Given the description of an element on the screen output the (x, y) to click on. 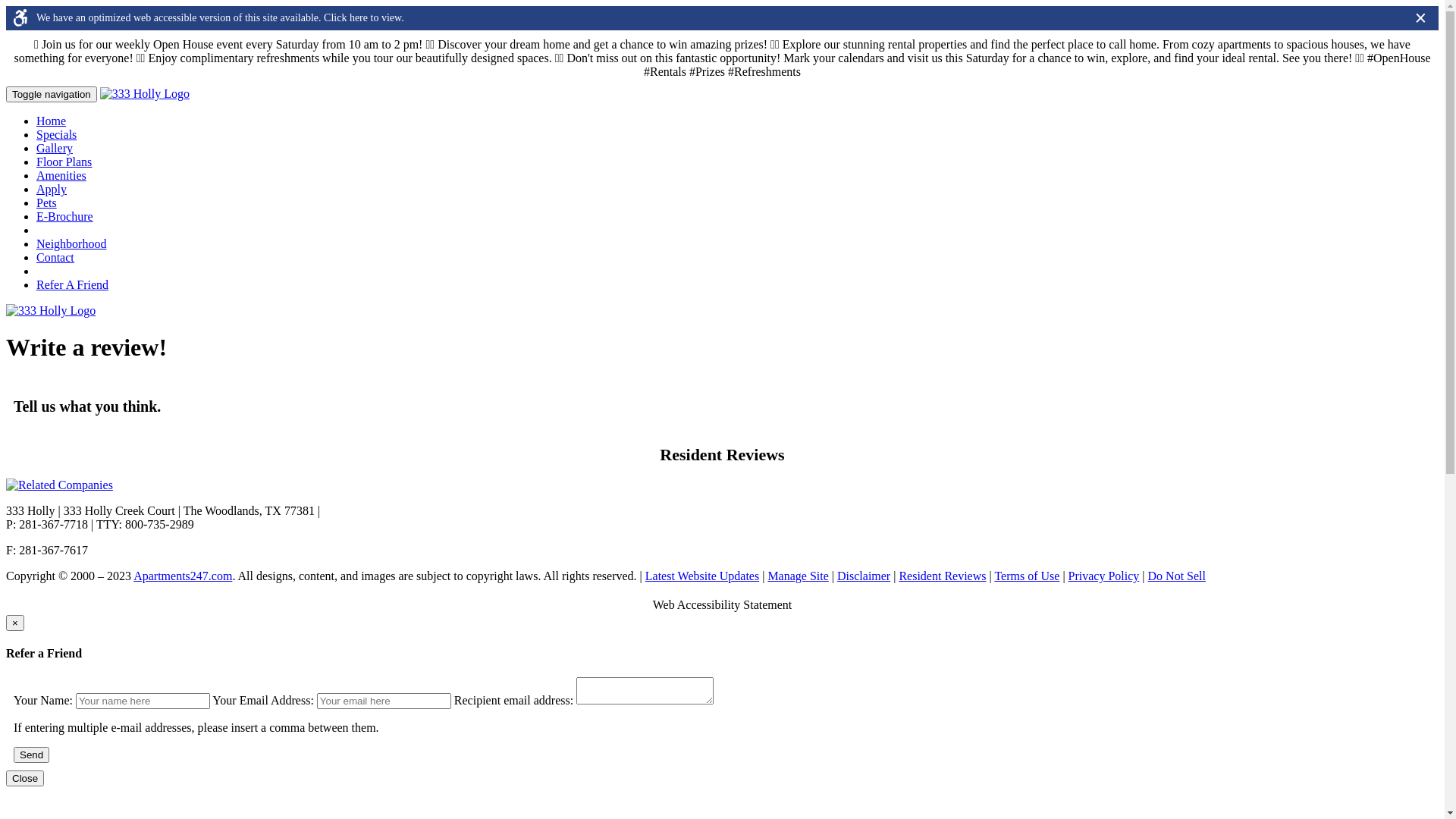
Floor Plans Element type: text (63, 161)
Home Element type: text (50, 120)
Send Element type: text (31, 754)
Contact Element type: text (55, 257)
Apply Element type: text (51, 188)
Amenities Element type: text (61, 175)
Specials Element type: text (56, 134)
Latest Website Updates Element type: text (702, 575)
Pets Element type: text (46, 202)
Toggle navigation Element type: text (51, 94)
Gallery Element type: text (54, 147)
Apartments247.com Element type: text (182, 575)
Web Accessibility Statement Element type: text (722, 604)
Terms of Use Element type: text (1026, 575)
Manage Site Element type: text (797, 575)
Close Element type: text (24, 778)
E-Brochure Element type: text (64, 216)
Neighborhood Element type: text (71, 243)
Refer A Friend Element type: text (72, 284)
Do Not Sell Element type: text (1176, 575)
Disclaimer Element type: text (863, 575)
Privacy Policy Element type: text (1103, 575)
Resident Reviews Element type: text (941, 575)
